Given the description of an element on the screen output the (x, y) to click on. 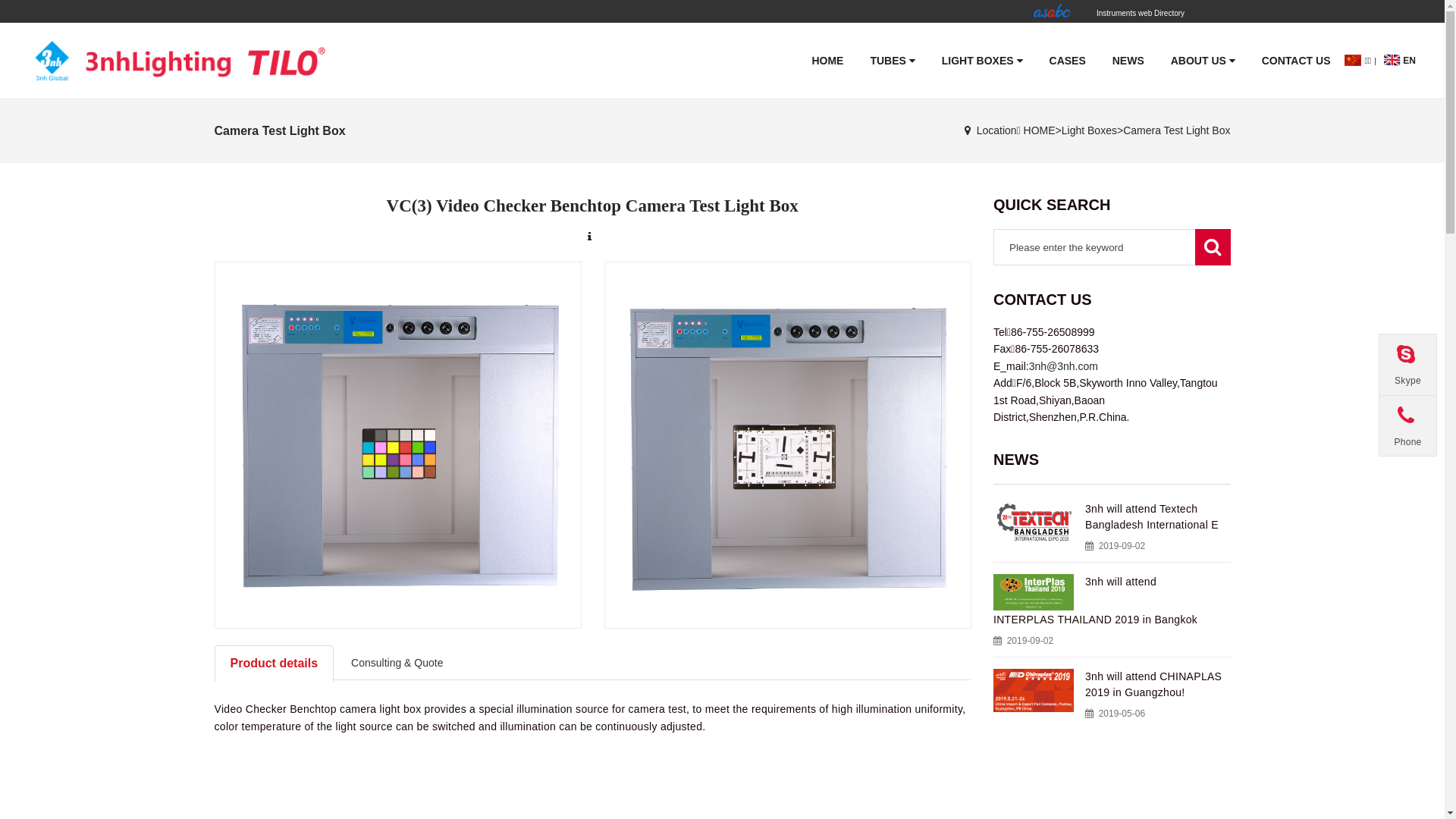
3nh will attend Textech Bangladesh International E Element type: text (1151, 516)
Product details Element type: text (273, 663)
NEWS Element type: text (1128, 60)
3nh will attend INTERPLAS THAILAND 2019 in Bangkok Element type: text (1095, 600)
EN Element type: text (1397, 60)
Instruments web Directory Element type: text (1108, 11)
Consulting & Quote Element type: text (396, 662)
CONTACT US Element type: text (1295, 60)
3nh@3nh.com Element type: text (1063, 366)
Light Boxes Element type: text (1089, 130)
LIGHT BOXES Element type: text (981, 60)
CASES Element type: text (1067, 60)
TUBES Element type: text (891, 60)
Camera Test Light Box Element type: text (1176, 130)
HOME Element type: text (1039, 130)
ABOUT US Element type: text (1202, 60)
HOME Element type: text (827, 60)
3nh will attend CHINAPLAS 2019 in Guangzhou! Element type: text (1153, 684)
Skype Element type: text (1407, 364)
Phone Element type: text (1407, 425)
